Given the description of an element on the screen output the (x, y) to click on. 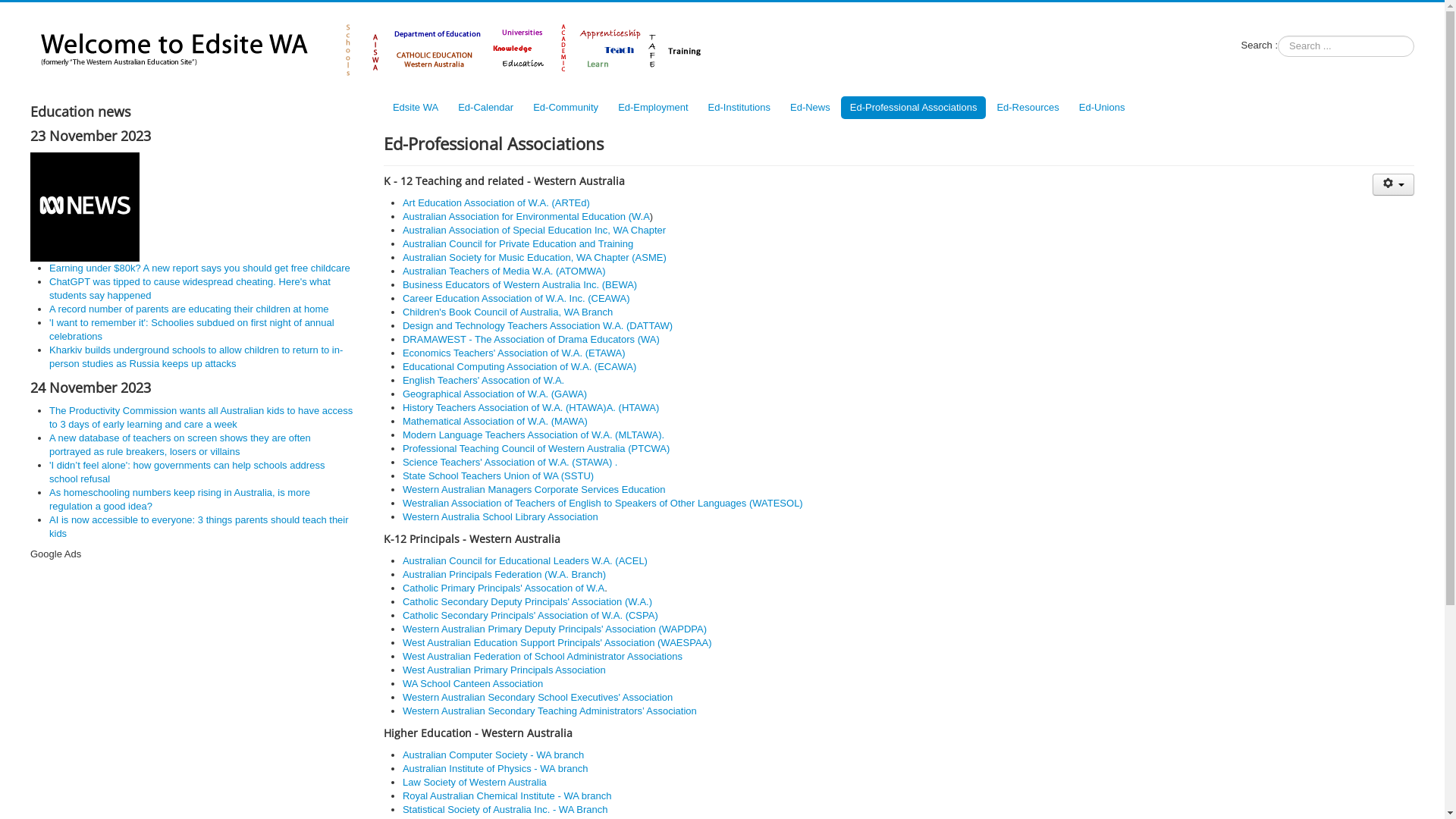
DRAMAWEST - The Association of Drama Educators (WA) Element type: text (530, 339)
State School Teachers Union of WA (SSTU) Element type: text (497, 475)
Australian Computer Society - WA branch Element type: text (492, 754)
Ed-Unions Element type: text (1102, 107)
Catholic Primary Principals' Assocation of W.A Element type: text (503, 587)
WA School Canteen Association Element type: text (472, 683)
Australian Institute of Physics - WA branch Element type: text (494, 768)
Business Educators of Western Australia Inc. (BEWA) Element type: text (519, 284)
Catholic Secondary Principals' Association of W.A. (CSPA) Element type: text (530, 615)
Western Australia School Library Association Element type: text (500, 516)
History Teachers Association of W.A. (HTAWA)A. (HTAWA) Element type: text (530, 407)
Career Education Association of W.A. Inc. (CEAWA) Element type: text (516, 298)
Australian Teachers of Media W.A. (ATOMWA) Element type: text (503, 270)
Educational Computing Association of W.A. (ECAWA) Element type: text (519, 366)
Ed-Calendar Element type: text (485, 107)
Australian Council for Private Education and Training Element type: text (517, 243)
Australian Principals Federation (W.A. Branch) Element type: text (503, 574)
West Australian Primary Principals Association Element type: text (503, 669)
Australian Society for Music Education, WA Chapter (ASME) Element type: text (534, 257)
Western Australian Managers Corporate Services Education Element type: text (533, 489)
Modern Language Teachers Association of W.A. (MLTAWA). Element type: text (533, 434)
Professional Teaching Council of Western Australia (PTCWA) Element type: text (535, 448)
Law Society of Western Australia Element type: text (474, 781)
Ed-News Element type: text (810, 107)
Ed-Employment Element type: text (652, 107)
Ed-Community Element type: text (565, 107)
Children's Book Council of Australia, WA Branch Element type: text (507, 311)
Statistical Society of Australia Inc. - WA Branch Element type: text (504, 809)
Science Teachers' Association of W.A. (STAWA) . Element type: text (510, 461)
Western Australian Secondary School Executives' Association Element type: text (537, 696)
Ed-Institutions Element type: text (739, 107)
Royal Australian Chemical Institute - WA branch Element type: text (506, 795)
Australian Council for Educational Leaders W.A. (ACEL) Element type: text (524, 560)
English Teachers' Assocation of W.A. Element type: text (483, 379)
Edsite WA Element type: text (415, 107)
Australian Association for Environmental Education (W.A Element type: text (525, 216)
Australian Association of Special Education Inc, WA Chapter Element type: text (533, 229)
Ed-Professional Associations Element type: text (913, 107)
Art Education Association of W.A. (ARTEd)  Element type: text (497, 202)
Geographical Association of W.A. (GAWA) Element type: text (494, 393)
Economics Teachers' Association of W.A. (ETAWA) Element type: text (513, 352)
Design and Technology Teachers Association W.A. (DATTAW) Element type: text (537, 325)
Ed-Resources Element type: text (1027, 107)
Catholic Secondary Deputy Principals' Association (W.A.) Element type: text (527, 601)
Advertisement Element type: hover (192, 667)
Mathematical Association of W.A. (MAWA) Element type: text (494, 420)
